Given the description of an element on the screen output the (x, y) to click on. 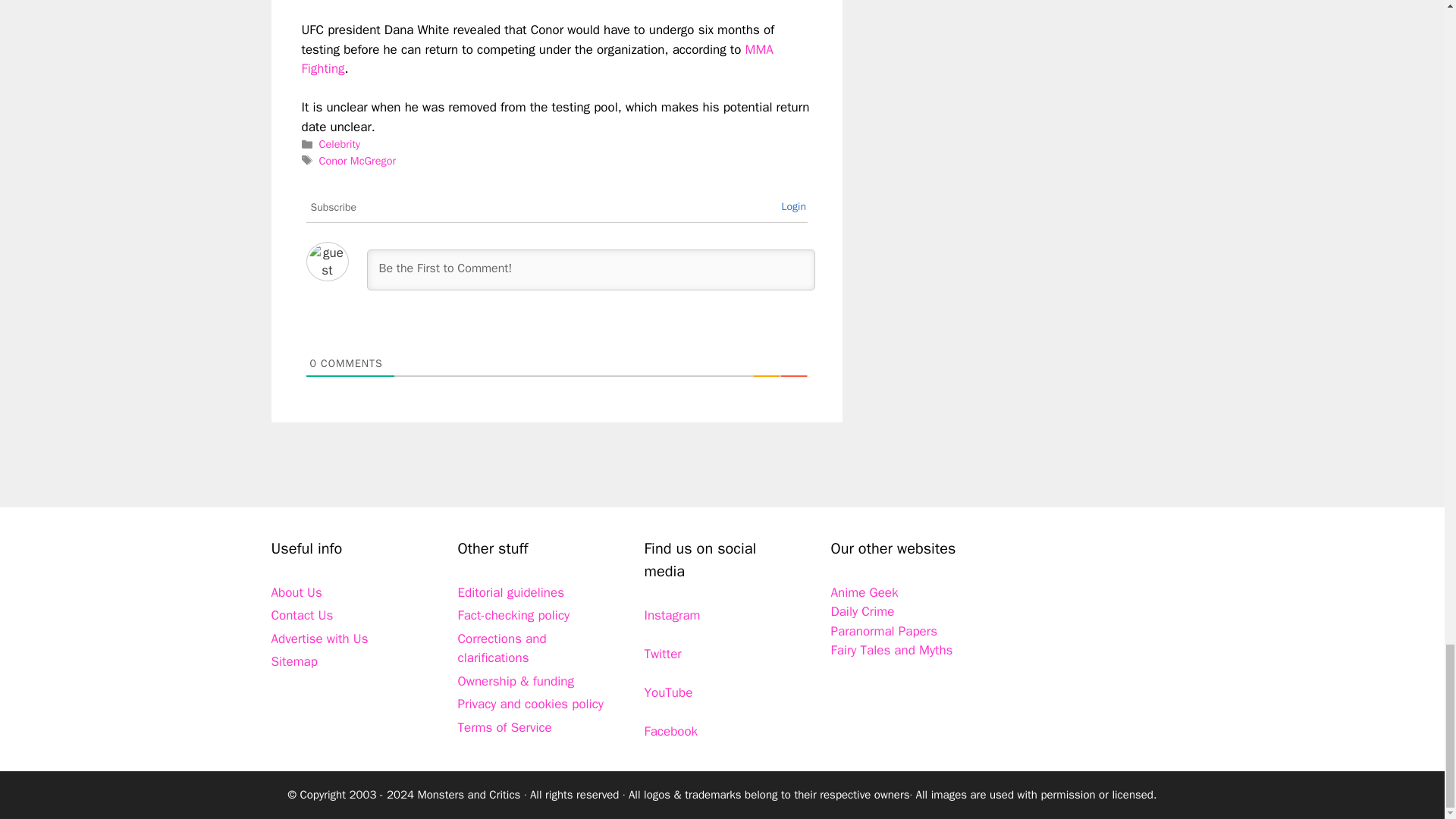
Conor McGregor (357, 160)
Login (793, 205)
Editorial guidelines (511, 592)
Advertise with Us (319, 638)
Terms of Service (504, 727)
Corrections and clarifications (502, 648)
Sitemap (293, 661)
Contact Us (301, 615)
Celebrity (338, 143)
Fact-checking policy (514, 615)
About Us (295, 592)
Privacy and cookies policy (531, 703)
MMA Fighting (537, 58)
